Given the description of an element on the screen output the (x, y) to click on. 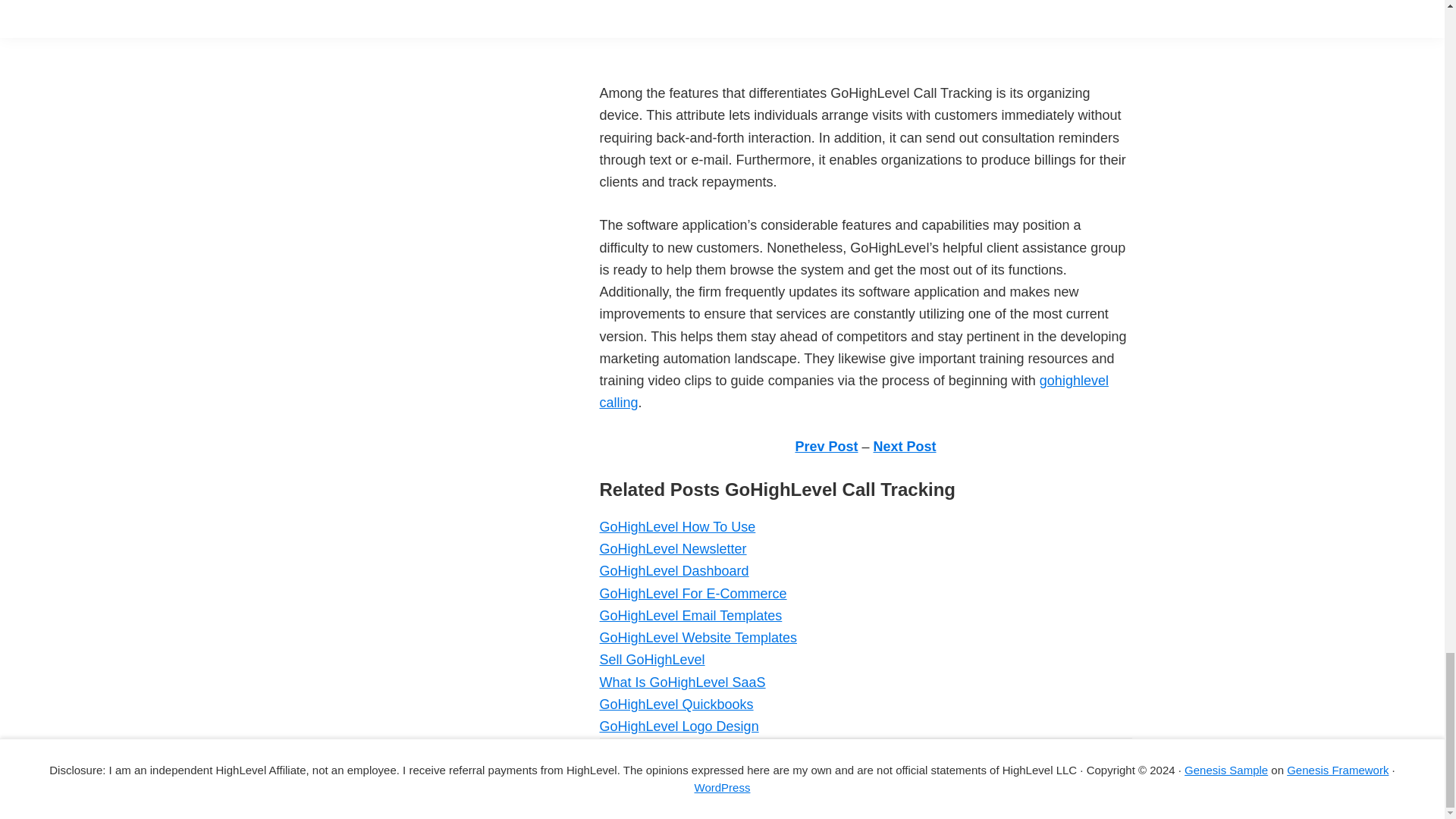
What Is GoHighLevel SaaS (681, 682)
GoHighLevel Newsletter (671, 548)
GoHighLevel Website Templates (697, 637)
Prev Post (825, 446)
GoHighLevel For E-Commerce (692, 593)
Sell GoHighLevel (651, 659)
GoHighLevel Logo Design (678, 726)
GoHighLevel Email Templates (689, 615)
GoHighLevel Quickbooks (675, 703)
GoHighLevel How To Use (676, 526)
